Given the description of an element on the screen output the (x, y) to click on. 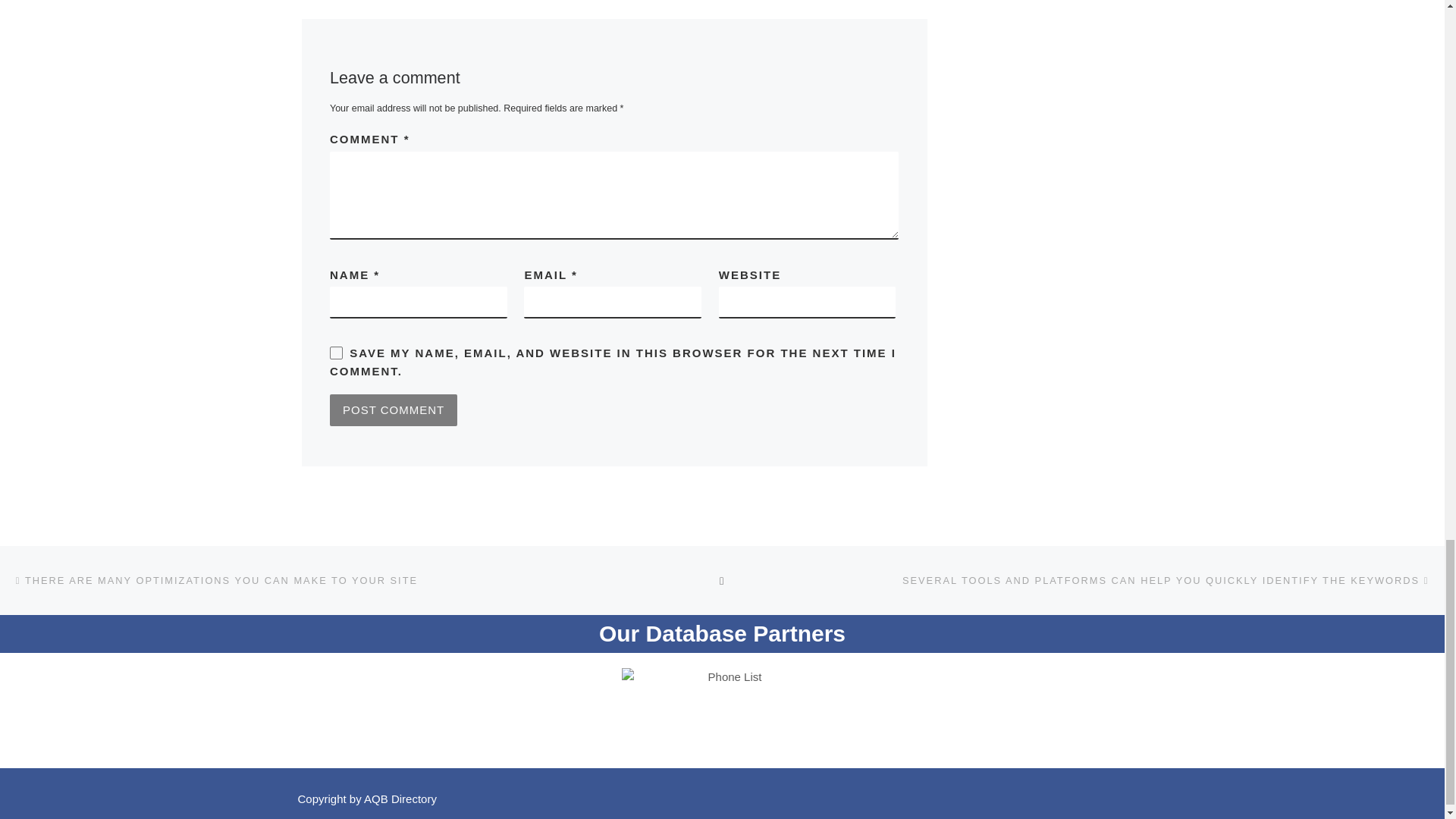
yes (336, 352)
Post Comment (393, 409)
